Given the description of an element on the screen output the (x, y) to click on. 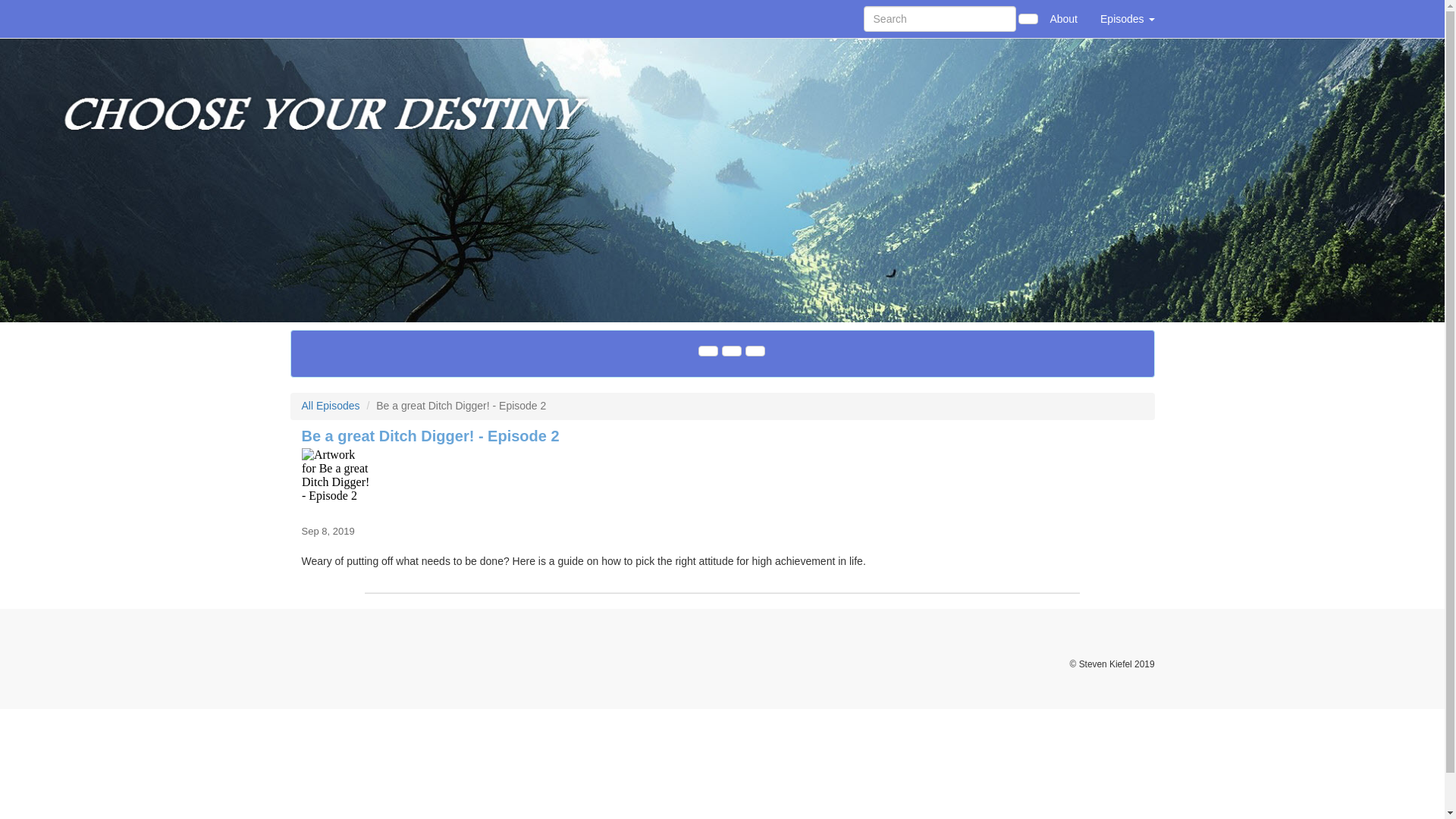
All Episodes (330, 405)
Episodes (1127, 18)
Home Page (320, 18)
Be a great Ditch Digger!  - Episode 2 (721, 481)
Be a great Ditch Digger! - Episode 2 (430, 435)
About (1063, 18)
